Given the description of an element on the screen output the (x, y) to click on. 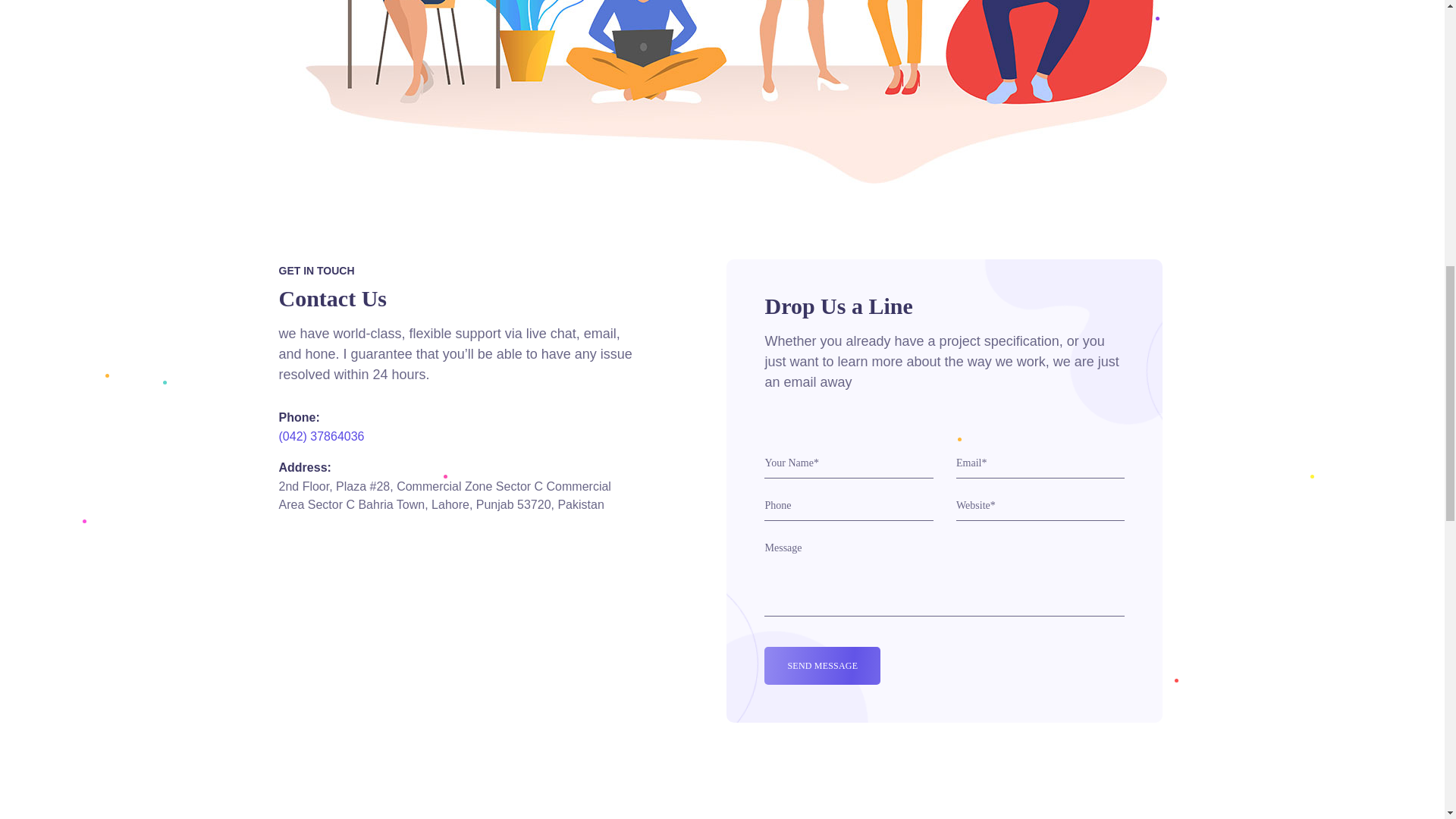
Send Message (822, 665)
